Given the description of an element on the screen output the (x, y) to click on. 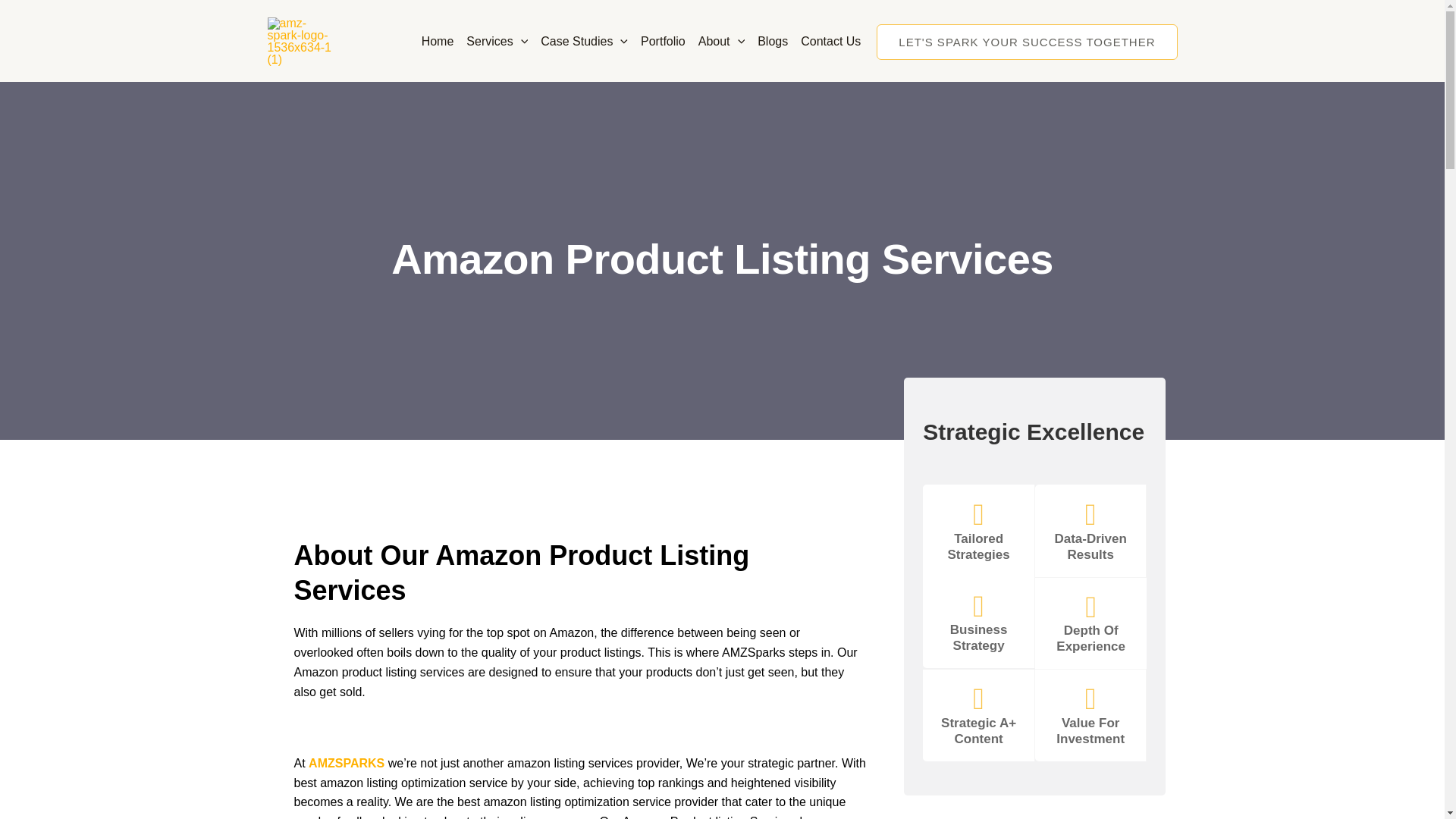
Contact Us (825, 41)
Services (491, 41)
Case Studies (578, 41)
LET'S SPARK YOUR SUCCESS TOGETHER (1026, 41)
